Given the description of an element on the screen output the (x, y) to click on. 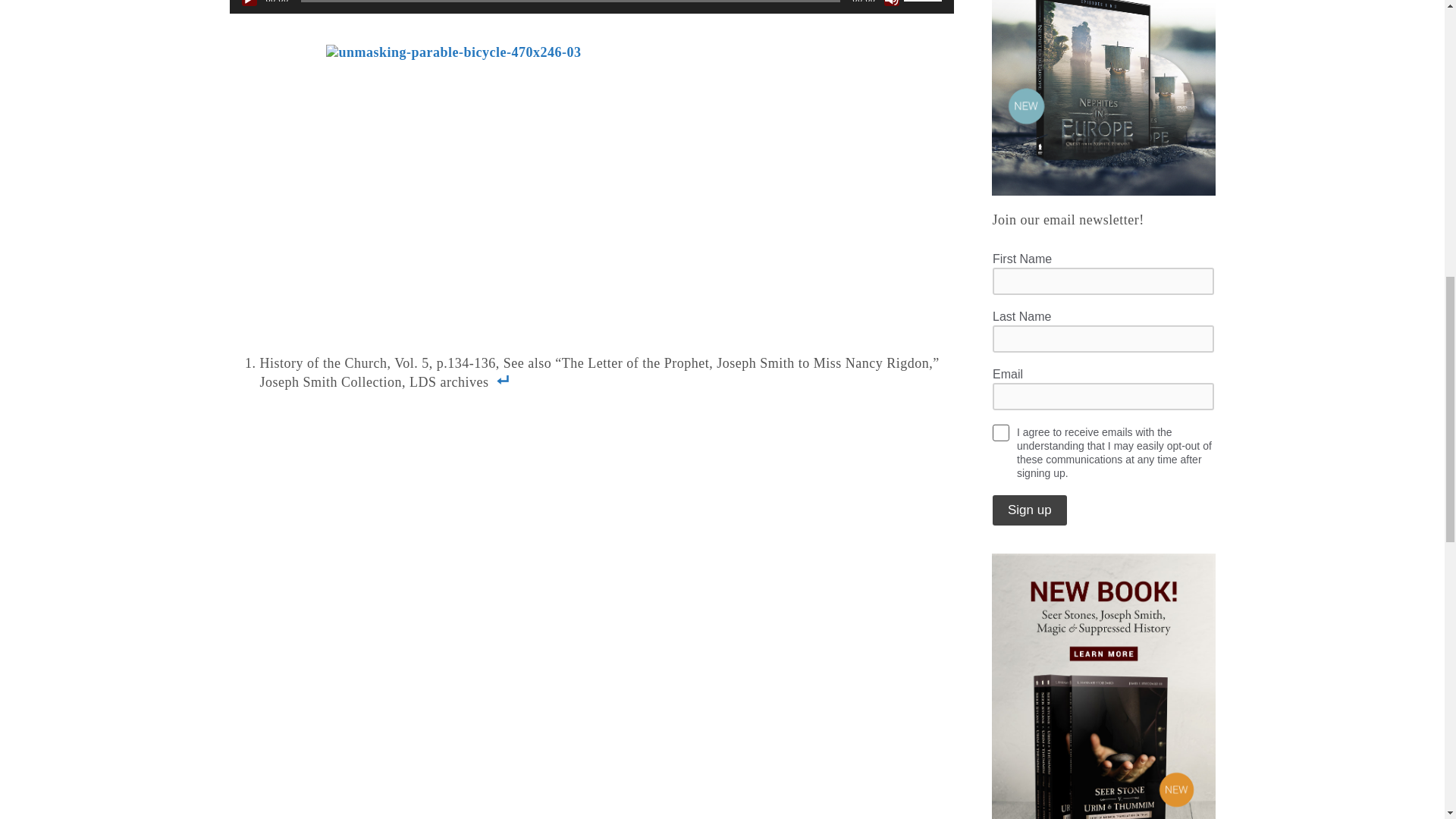
Play (248, 2)
Mute (891, 2)
